Given the description of an element on the screen output the (x, y) to click on. 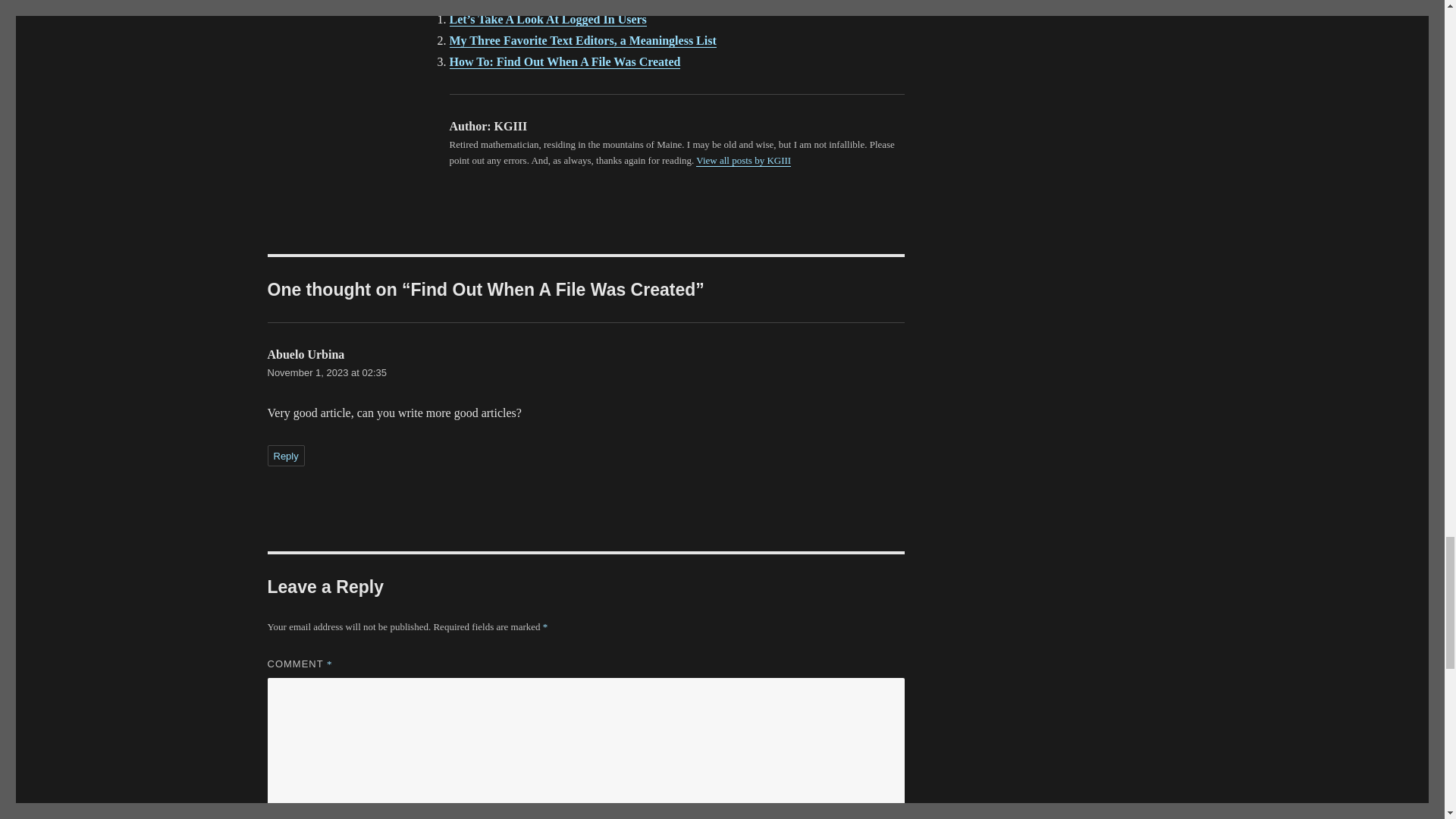
View all posts by KGIII (742, 160)
My Three Favorite Text Editors, a Meaningless List (582, 40)
How To: Find Out When A File Was Created (563, 61)
